Given the description of an element on the screen output the (x, y) to click on. 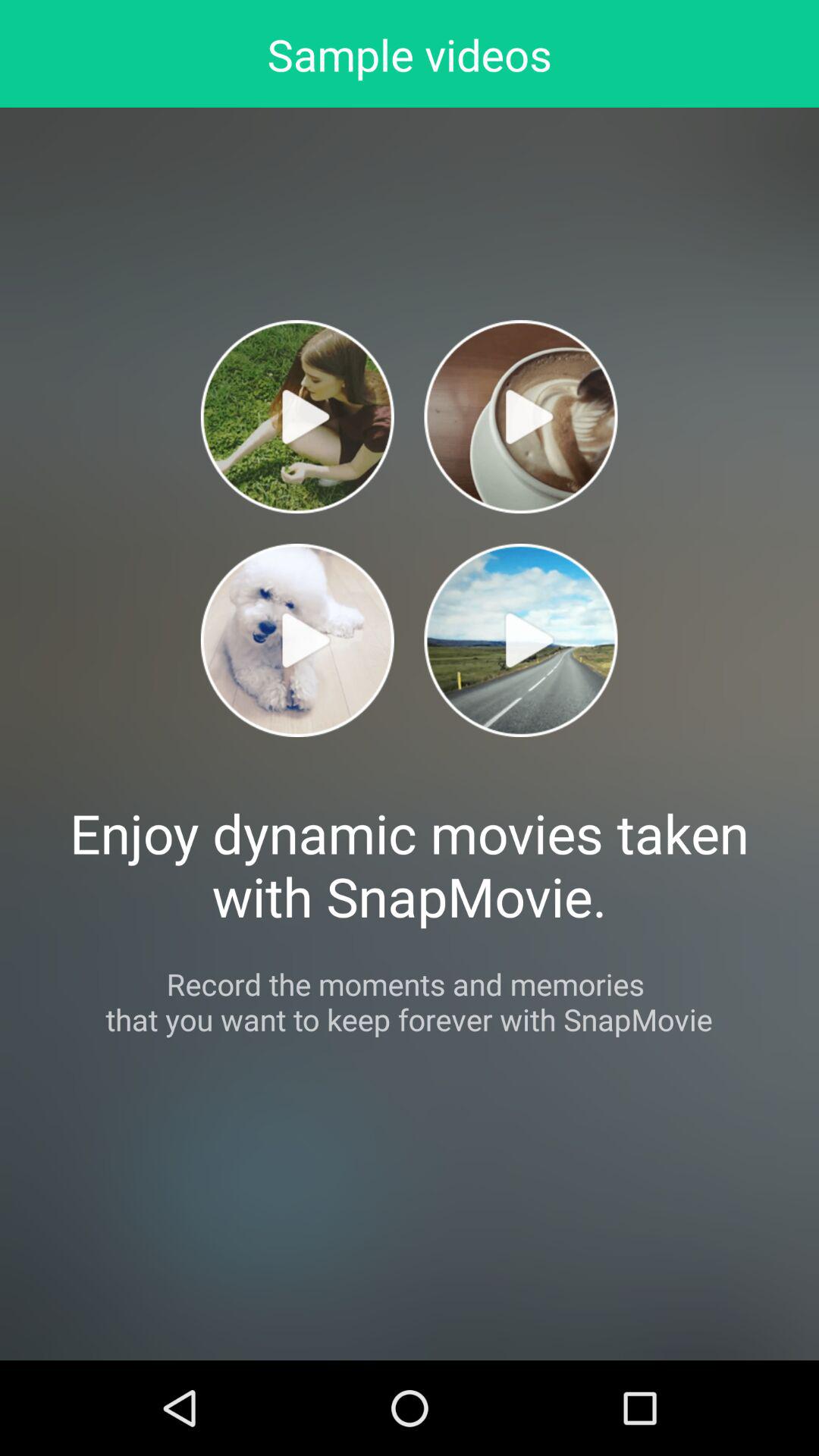
play video (520, 416)
